Given the description of an element on the screen output the (x, y) to click on. 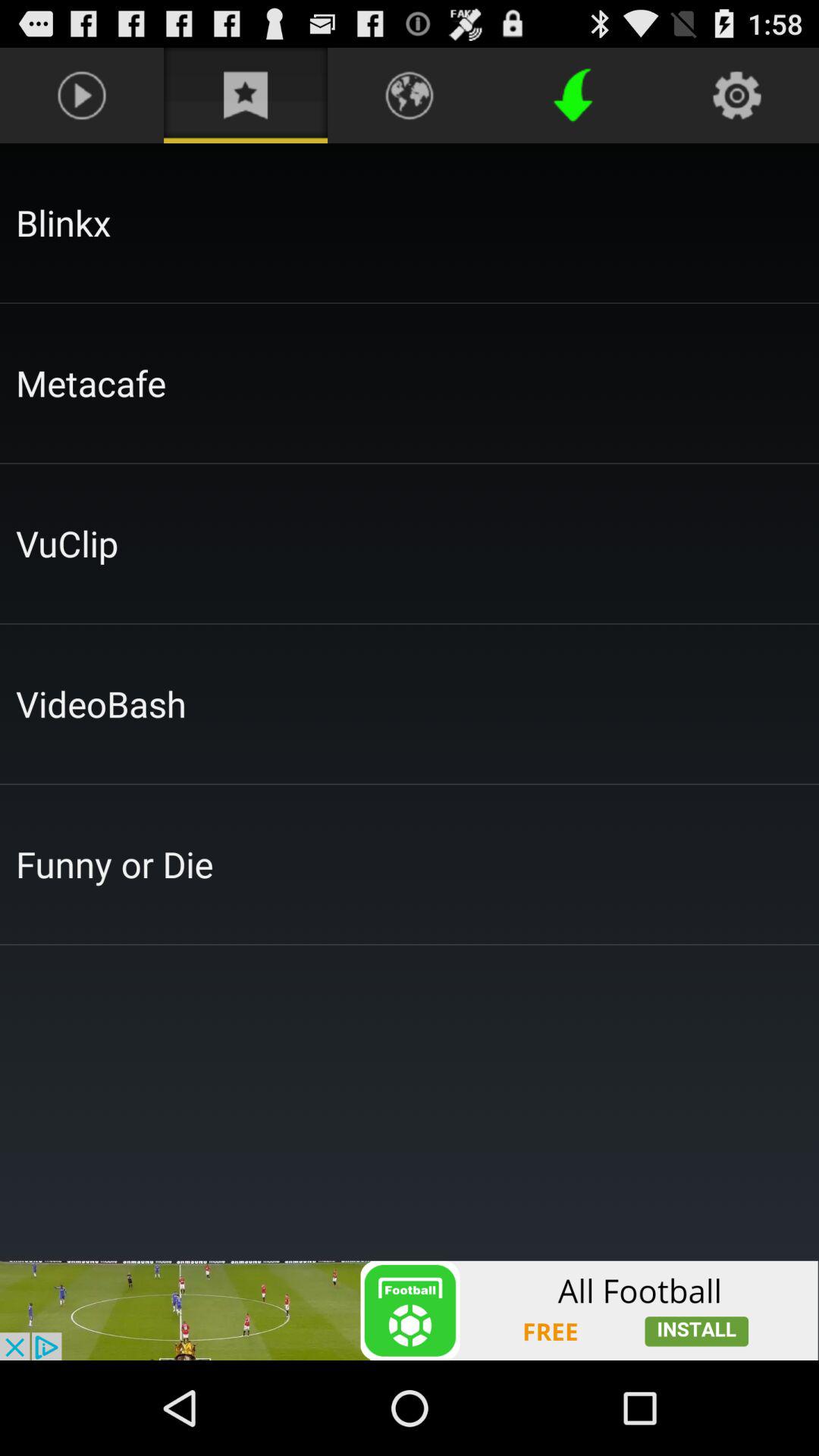
switch autoplay option (409, 1310)
